Given the description of an element on the screen output the (x, y) to click on. 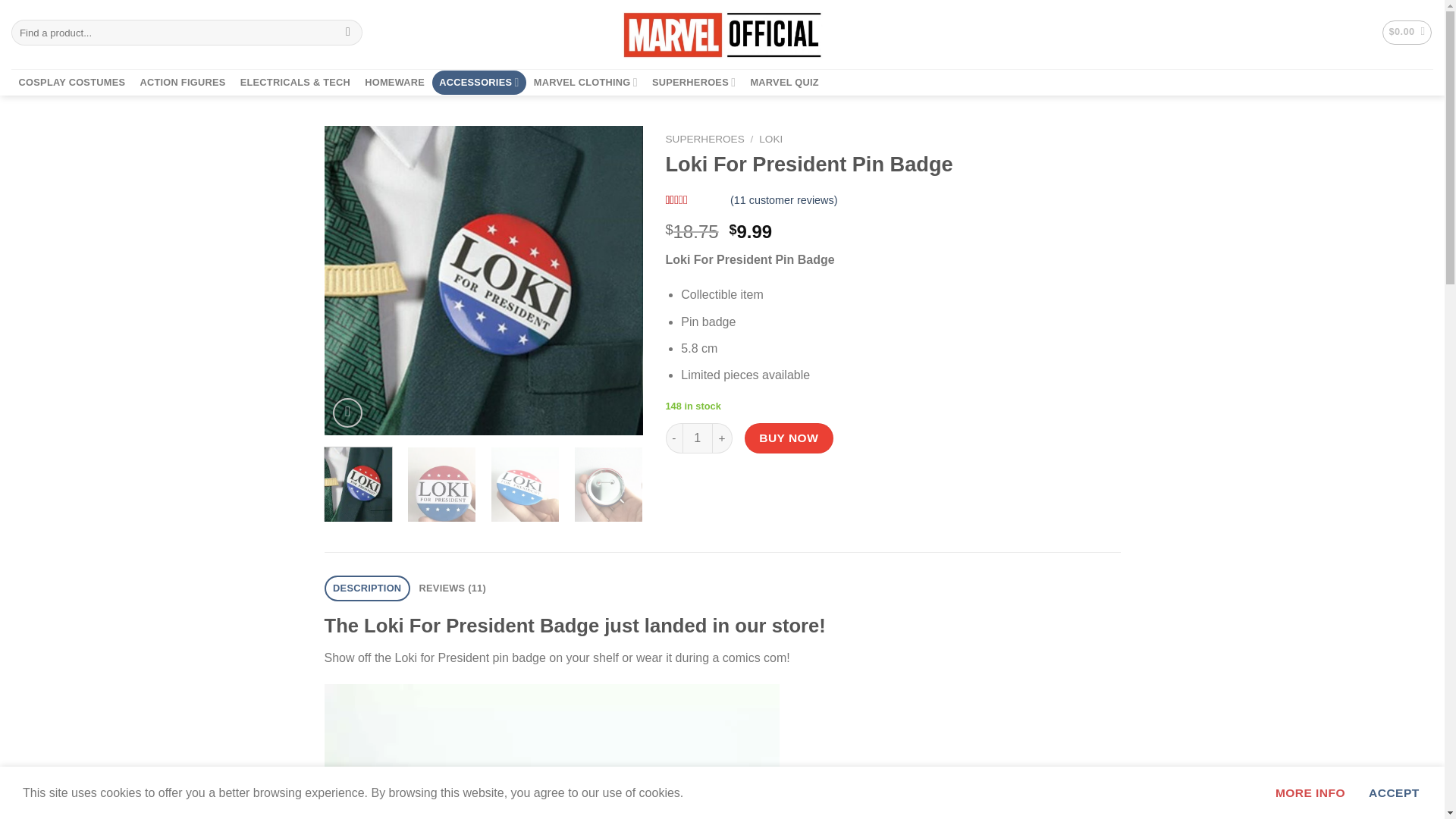
ACTION FIGURES (182, 81)
Cart (1406, 32)
MARVEL CLOTHING (585, 81)
SUPERHEROES (693, 81)
COSPLAY COSTUMES (71, 81)
Search (348, 32)
Zoom (347, 412)
ACCESSORIES (478, 81)
MARVEL QUIZ (784, 81)
